Given the description of an element on the screen output the (x, y) to click on. 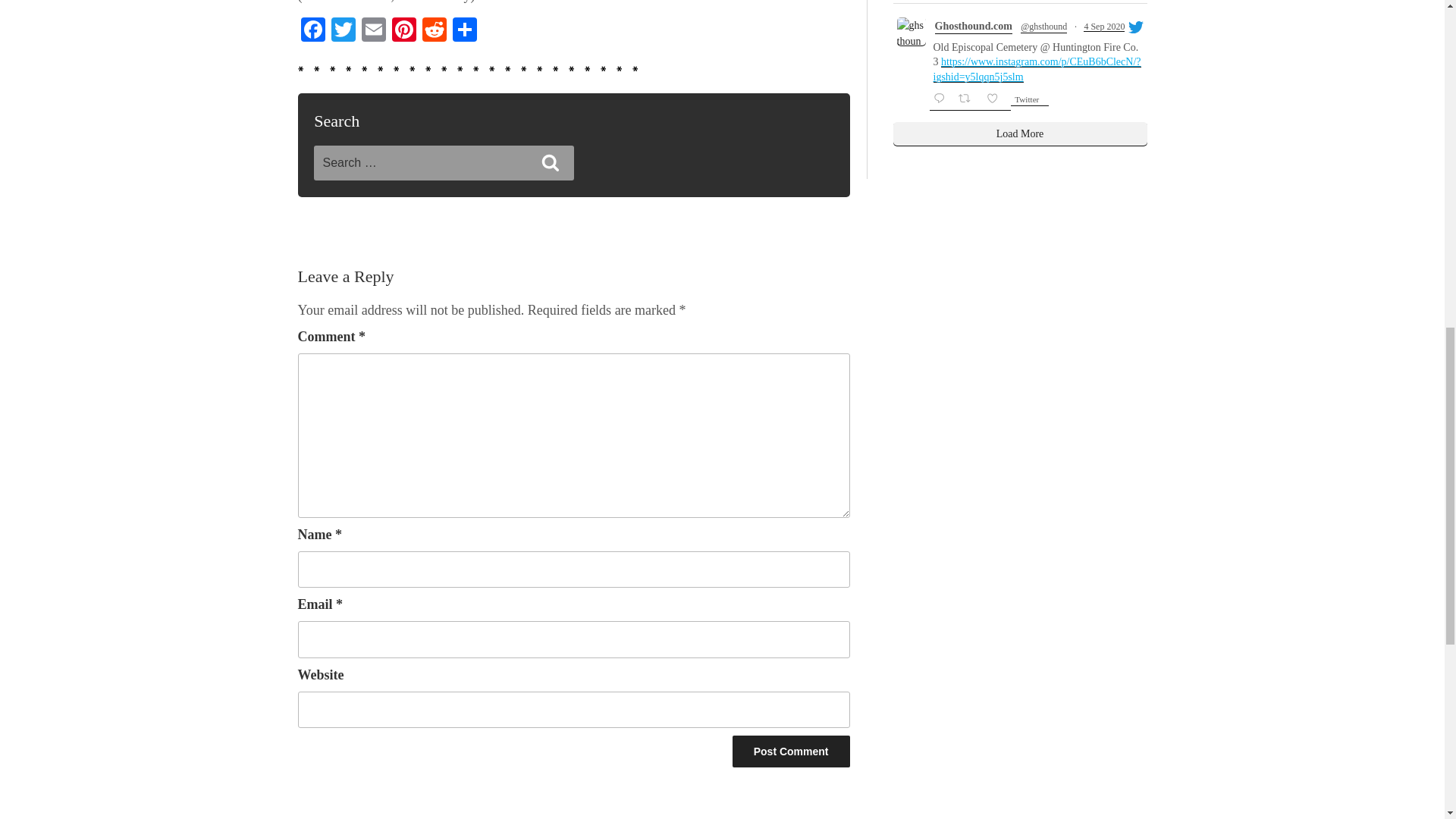
Reddit (433, 31)
Twitter (342, 31)
Pinterest (403, 31)
Email (373, 31)
Post Comment (791, 751)
Reddit (433, 31)
Email (373, 31)
Facebook (312, 31)
Search (550, 163)
Facebook (312, 31)
Pinterest (403, 31)
Post Comment (791, 751)
Twitter (342, 31)
